Given the description of an element on the screen output the (x, y) to click on. 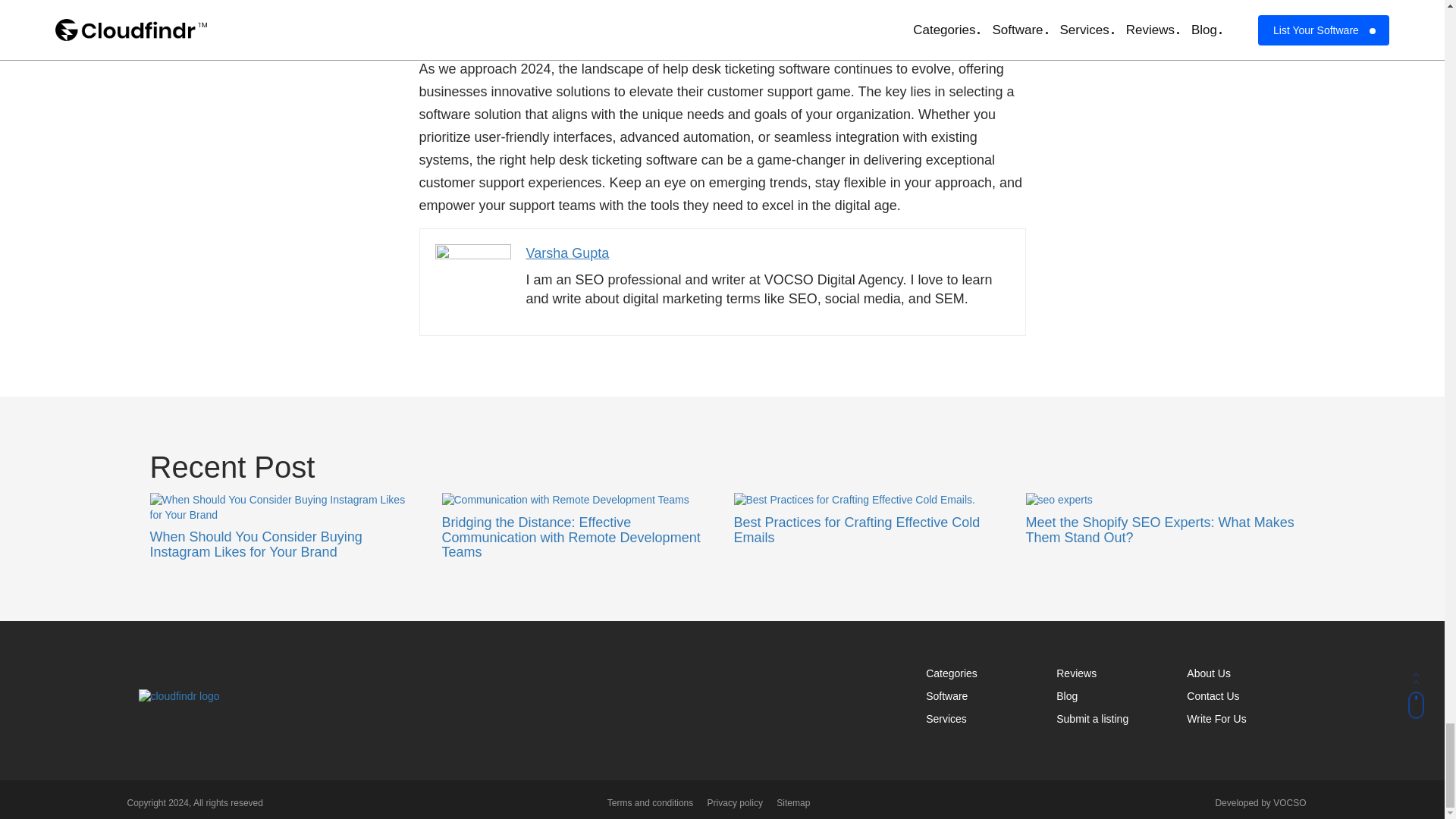
Terms and conditions (650, 802)
About Us (1208, 673)
Best Practices for Crafting Effective Cold Emails (856, 530)
Write For Us (1216, 718)
Contact Us (1212, 695)
Sitemap (792, 802)
Services (946, 718)
Varsha Gupta (567, 253)
Software (947, 695)
